Given the description of an element on the screen output the (x, y) to click on. 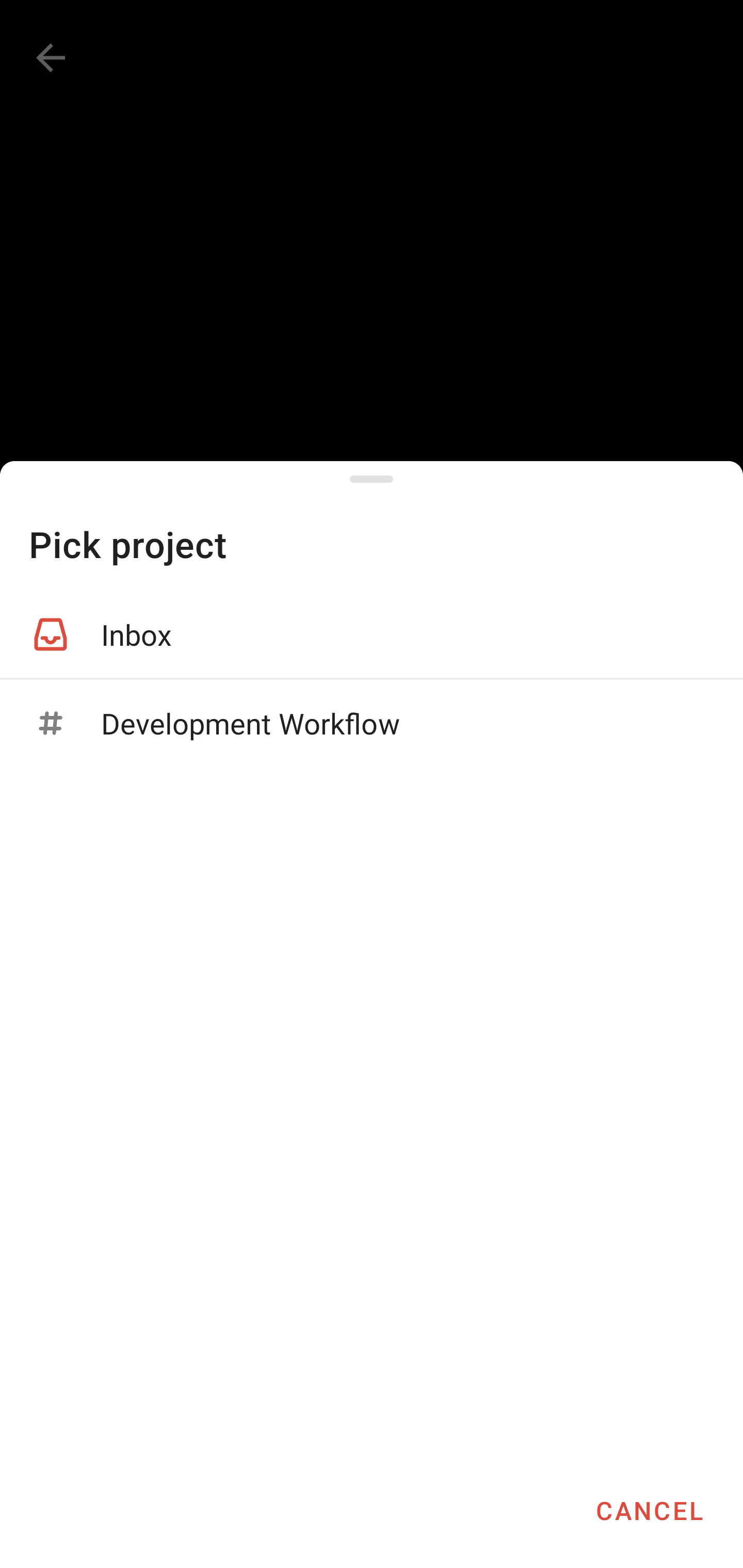
Inbox (371, 634)
Development Workflow (371, 723)
CANCEL (648, 1510)
